Given the description of an element on the screen output the (x, y) to click on. 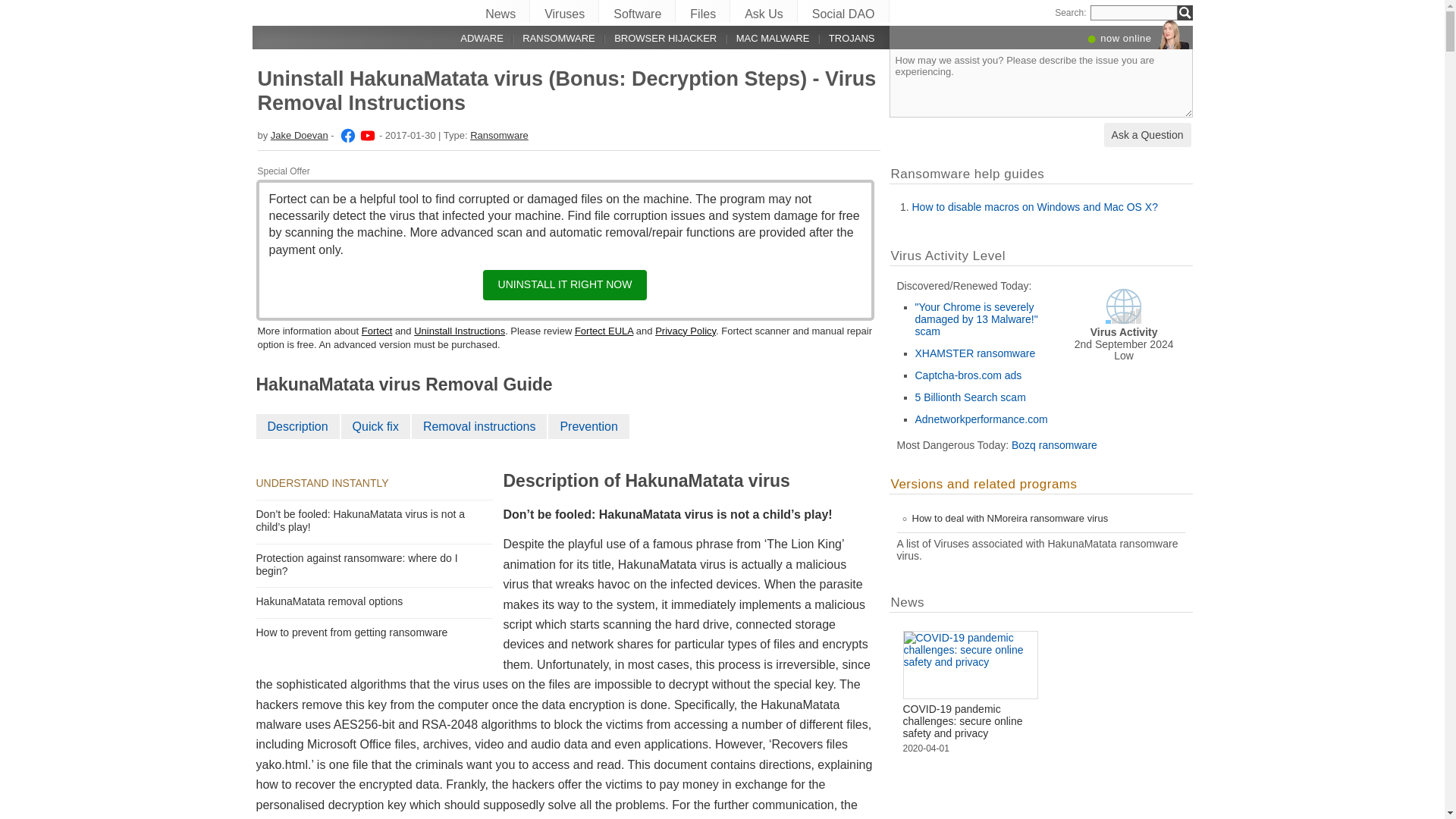
Uninstall Instructions (459, 330)
TROJANS (842, 37)
Social DAO (843, 11)
Virus Activity (1123, 306)
Jake Doevan (346, 134)
ADWARE (473, 37)
Removal instructions (480, 427)
Viruses (564, 11)
MAC MALWARE (762, 37)
Fortect (376, 330)
